Given the description of an element on the screen output the (x, y) to click on. 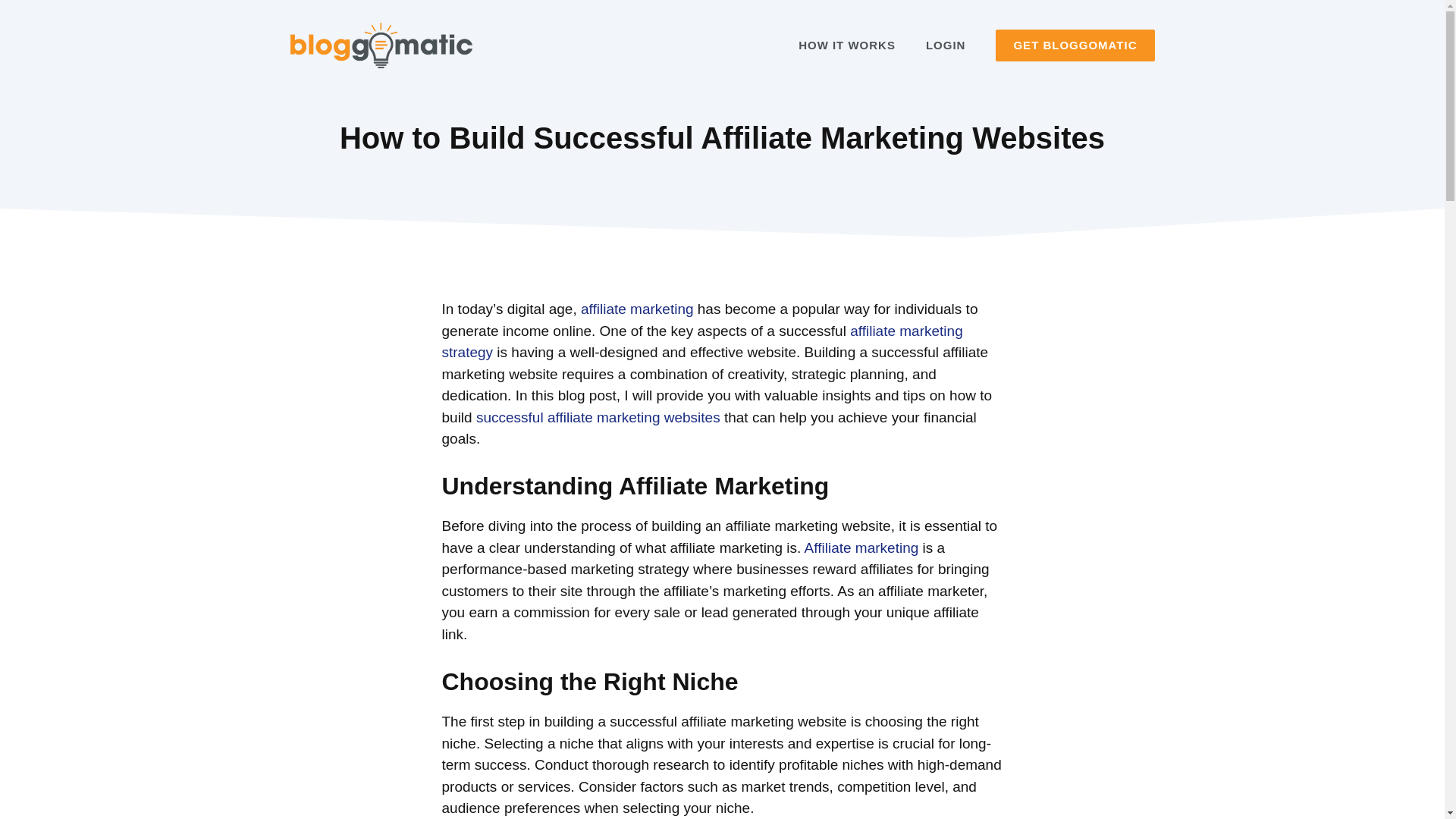
affiliate marketing strategy (701, 341)
HOW IT WORKS (847, 44)
LOGIN (946, 44)
GET BLOGGOMATIC (1074, 45)
successful affiliate marketing websites (598, 417)
affiliate marketing (637, 308)
Affiliate marketing (861, 547)
